Given the description of an element on the screen output the (x, y) to click on. 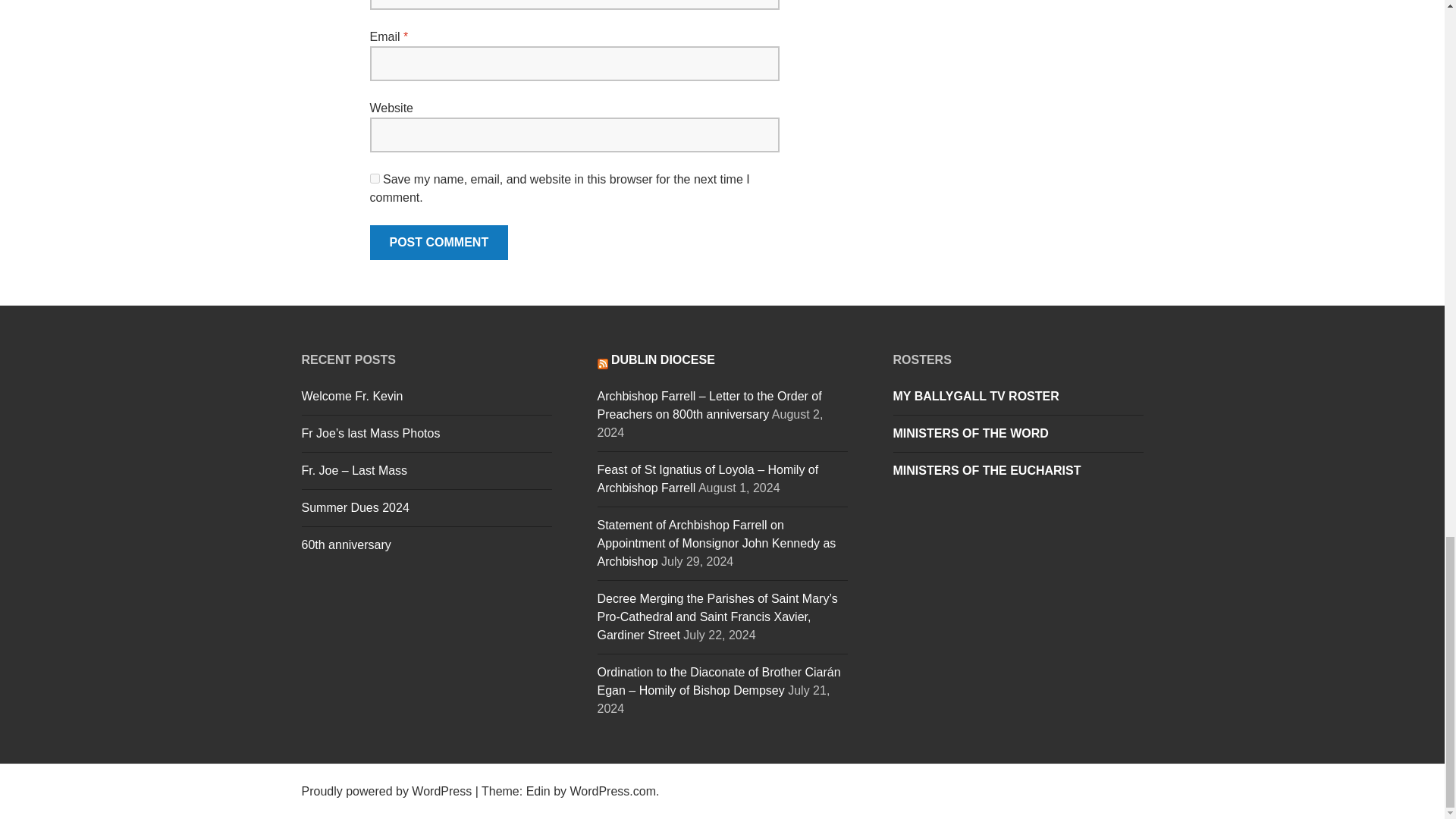
60th anniversary (346, 544)
yes (374, 178)
Post Comment (438, 242)
Welcome Fr. Kevin (352, 395)
DUBLIN DIOCESE (662, 359)
Summer Dues 2024 (355, 507)
Post Comment (438, 242)
